Given the description of an element on the screen output the (x, y) to click on. 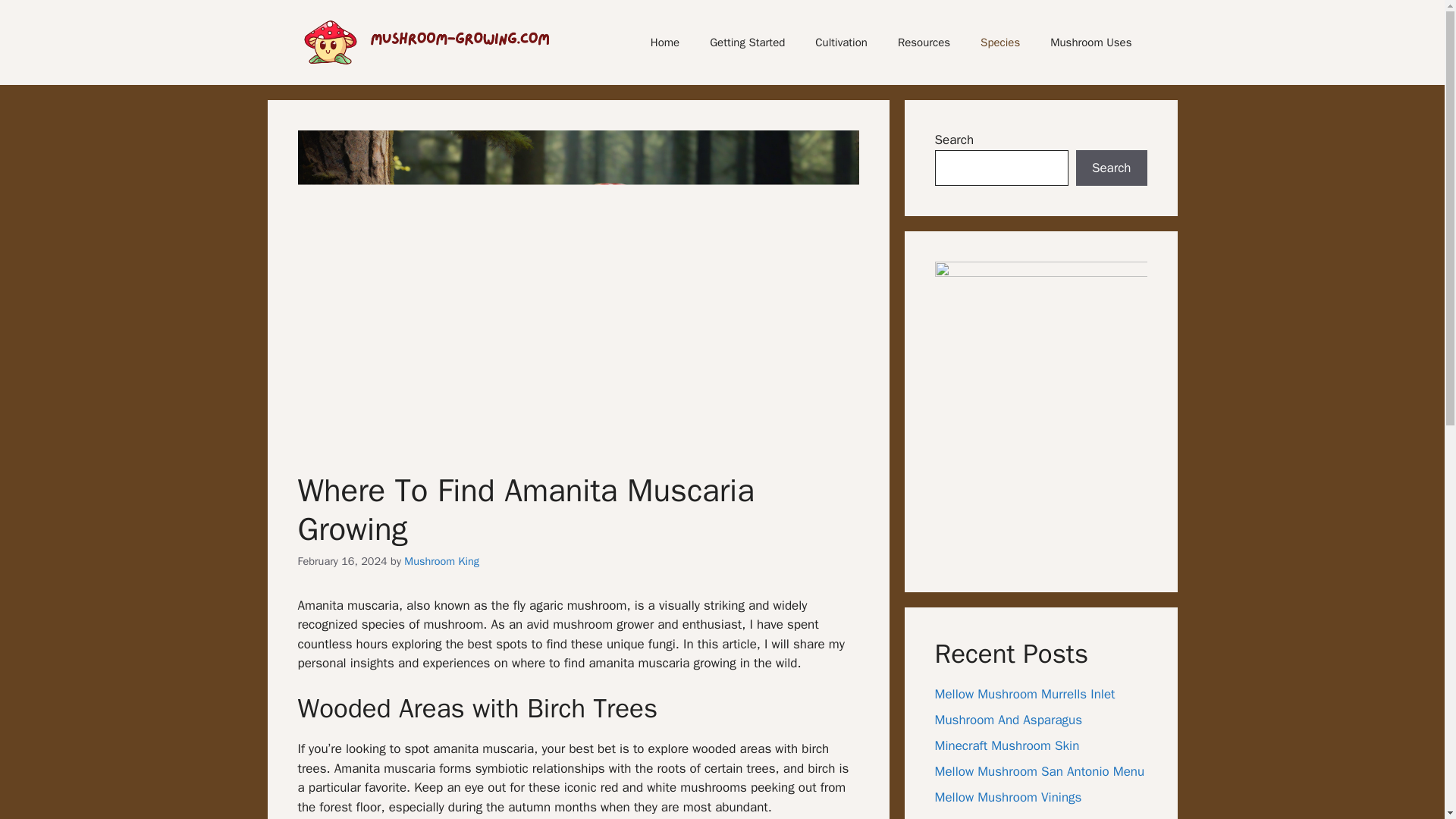
Mushroom King (441, 561)
Home (664, 42)
Getting Started (746, 42)
Mushroom And Asparagus (1007, 719)
Minecraft Mushroom Skin (1006, 745)
Mushroom Uses (1091, 42)
Resources (923, 42)
View all posts by Mushroom King (441, 561)
Search (1111, 167)
Cultivation (840, 42)
Mellow Mushroom Murrells Inlet (1024, 693)
Mellow Mushroom San Antonio Menu (1039, 771)
Mellow Mushroom Vinings (1007, 797)
Species (1000, 42)
